Given the description of an element on the screen output the (x, y) to click on. 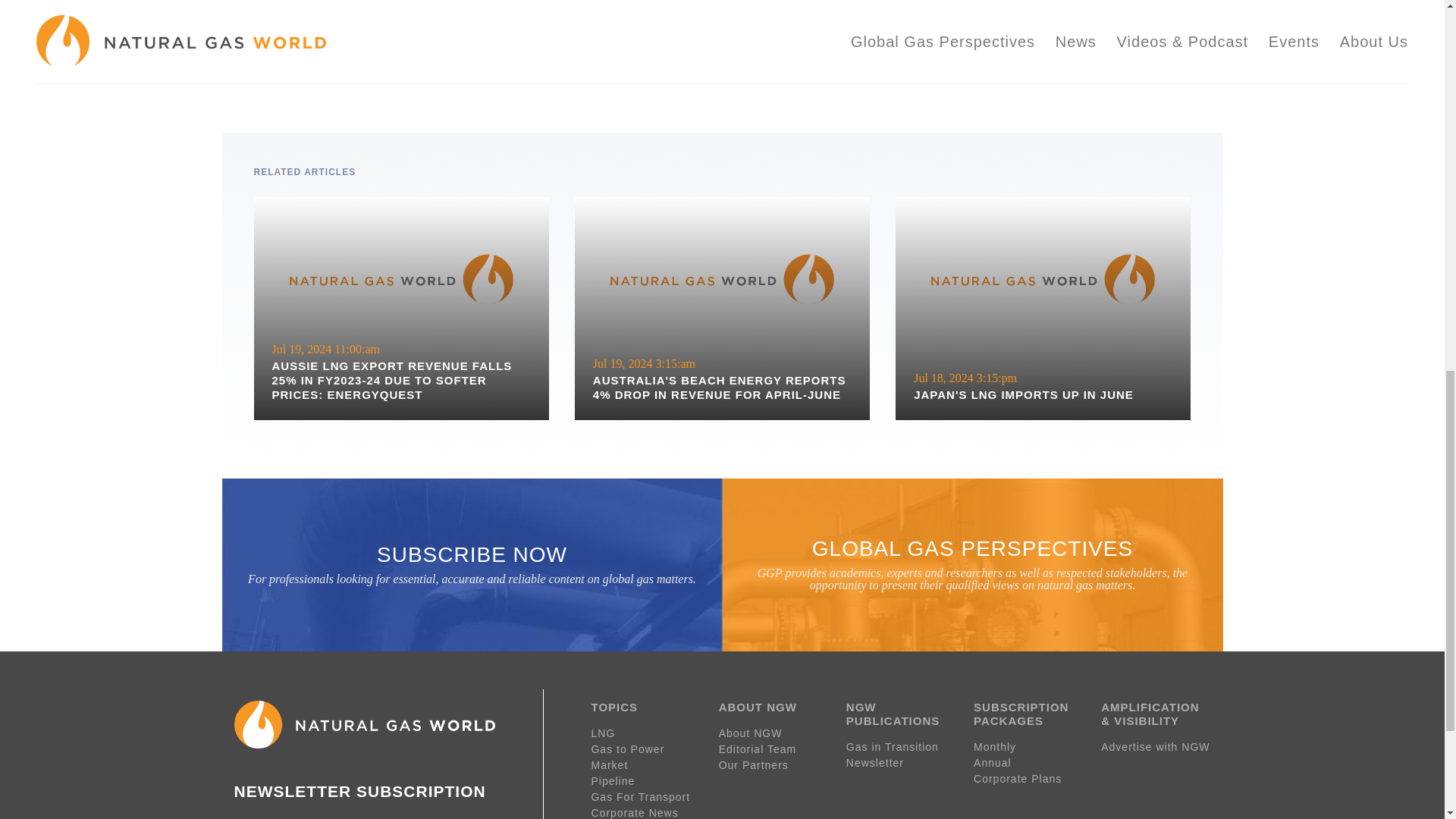
Forgot your password? (1043, 308)
LNG (323, 55)
SUBSCRIBE (645, 733)
Gas to Power (656, 58)
SIGN IN (645, 749)
